Given the description of an element on the screen output the (x, y) to click on. 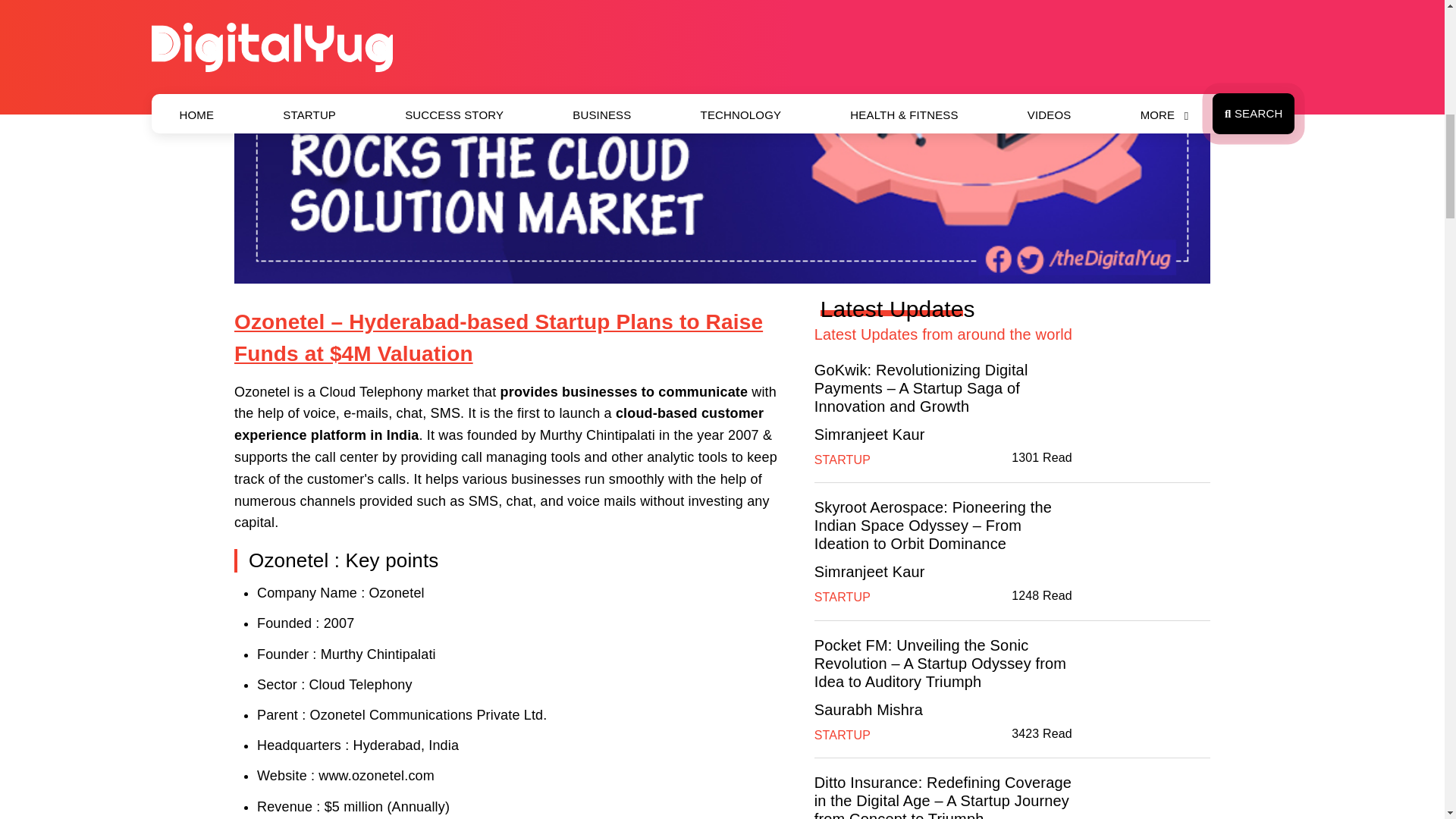
Simranjeet Kaur (868, 434)
STARTUP (841, 459)
STARTUP (841, 596)
Simranjeet Kaur (868, 571)
STARTUP (841, 735)
Saurabh Mishra (868, 709)
